Given the description of an element on the screen output the (x, y) to click on. 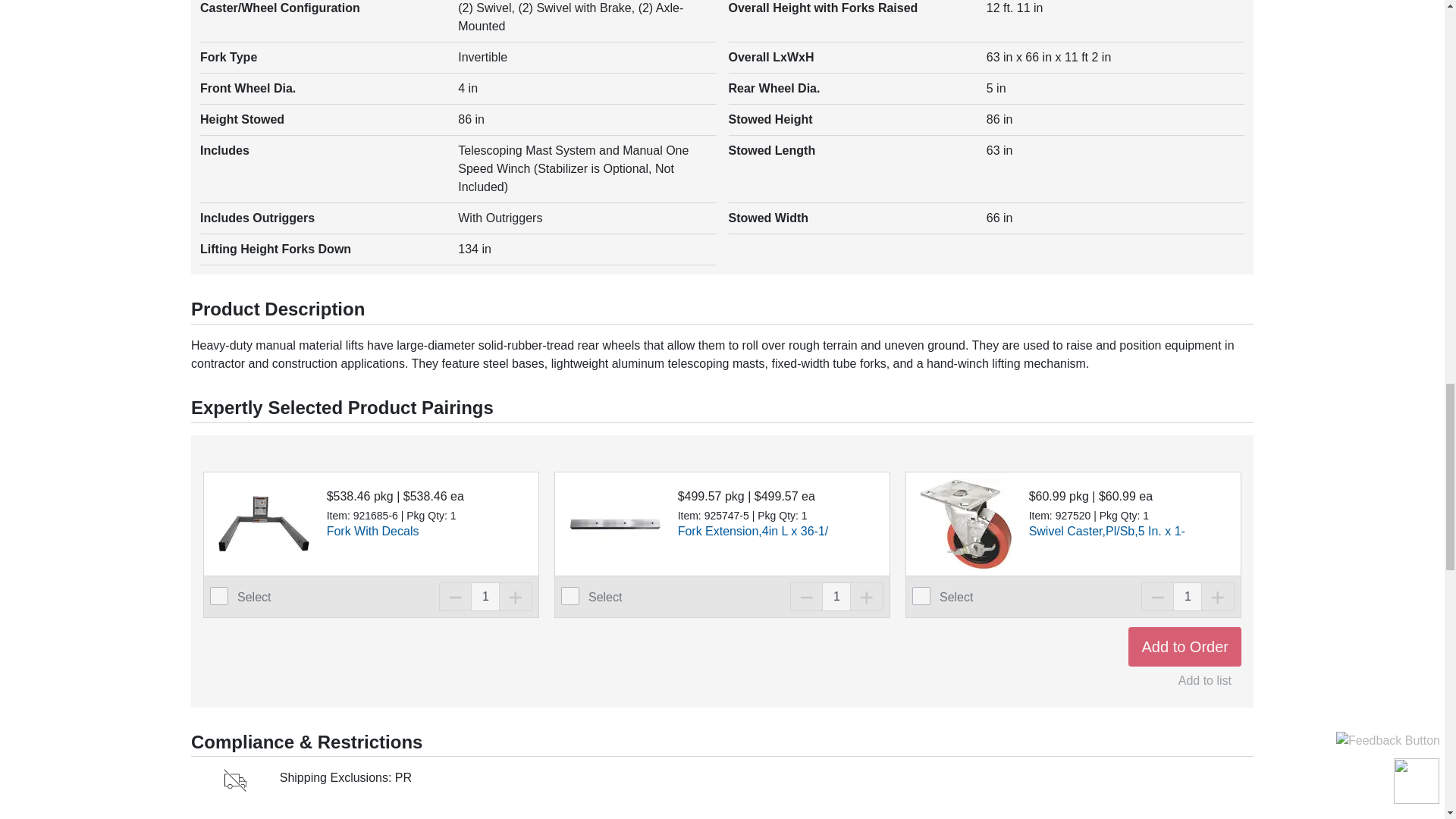
State ship exclusion (235, 780)
1 (1187, 596)
1 (836, 596)
1 (484, 596)
